Given the description of an element on the screen output the (x, y) to click on. 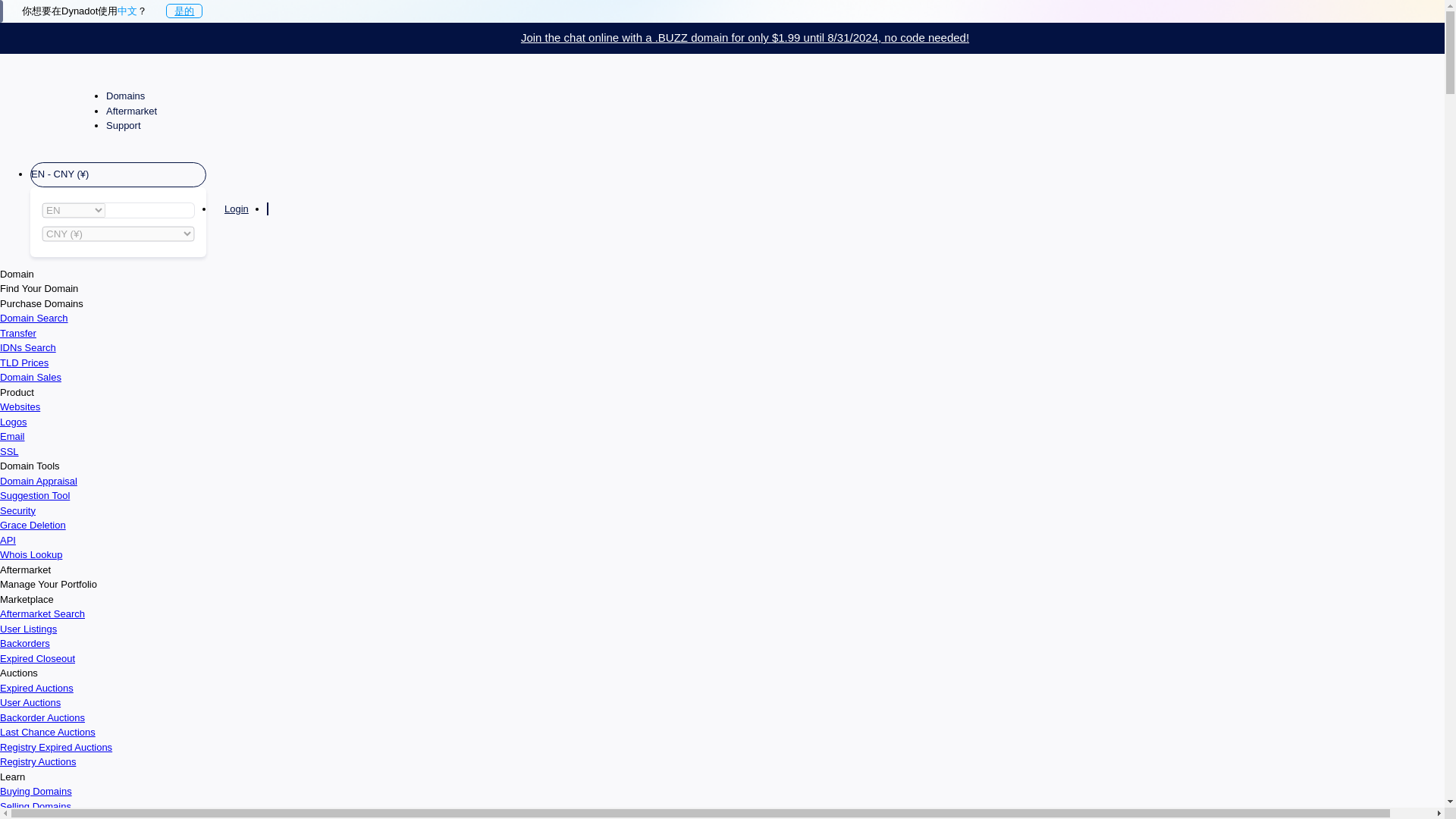
Support   (126, 125)
Selling Domains (35, 806)
Last Chance Auctions (48, 731)
SSL (9, 451)
Suggestion Tool (34, 495)
Login (236, 209)
Aftermarket   (133, 110)
Backorders (24, 643)
Transfer (18, 333)
Domain Search (34, 317)
